Given the description of an element on the screen output the (x, y) to click on. 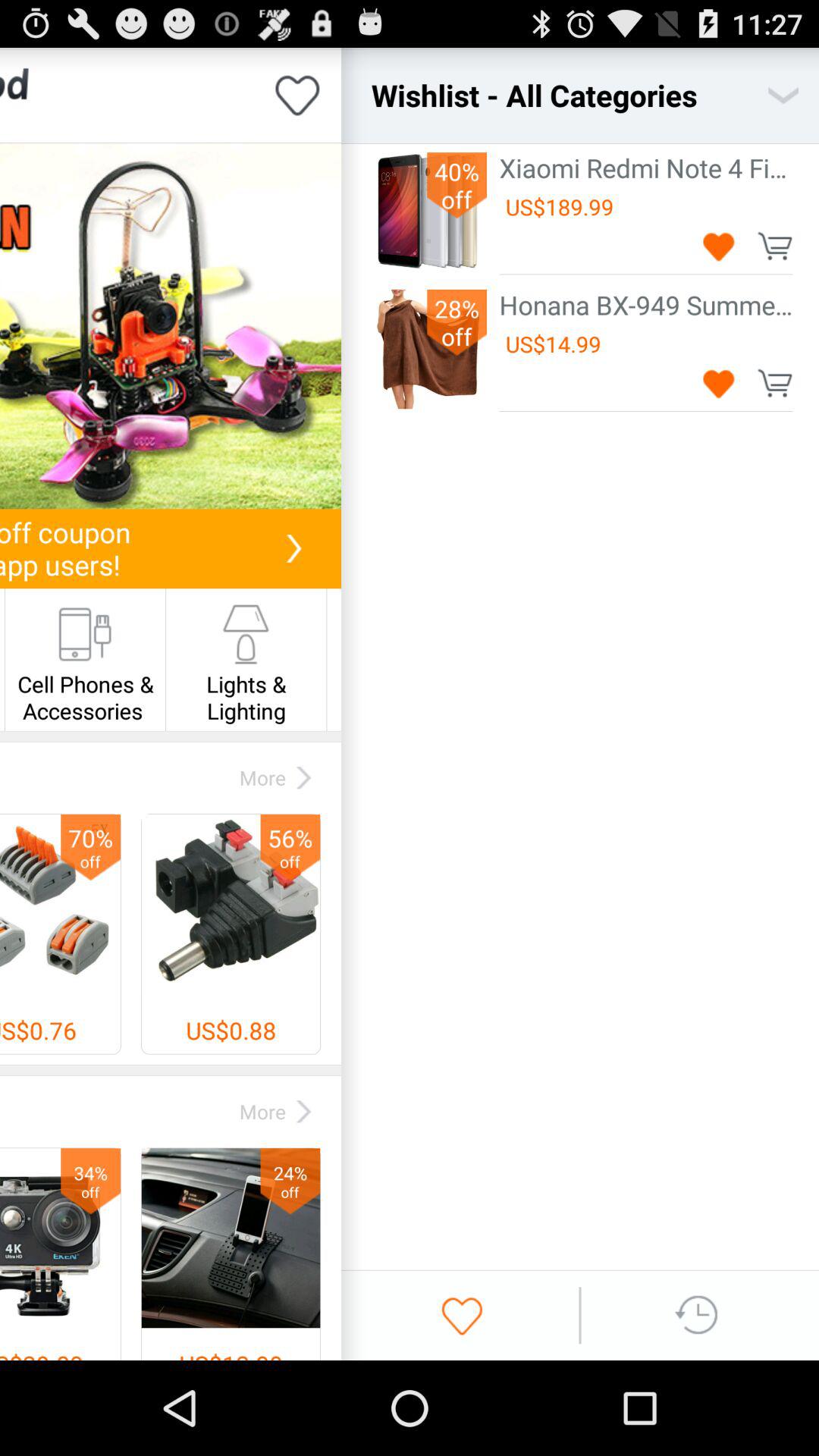
launch the item above honana bx 949 (645, 274)
